Given the description of an element on the screen output the (x, y) to click on. 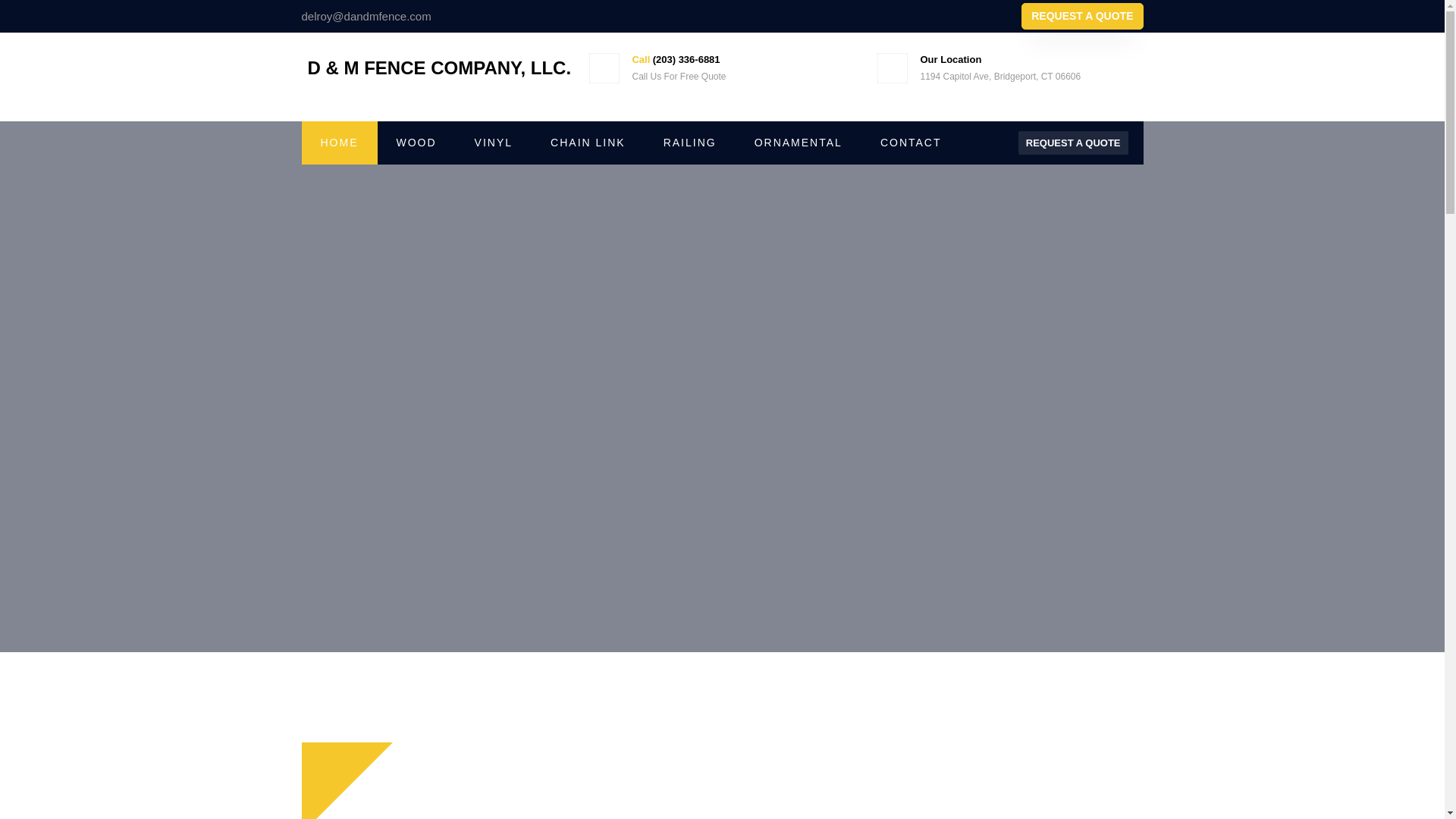
CONTACT (910, 142)
CHAIN LINK (588, 142)
REQUEST A QUOTE (1072, 142)
ORNAMENTAL (798, 142)
HOME (339, 142)
WOOD (416, 142)
RAILING (690, 142)
VINYL (493, 142)
REQUEST A QUOTE (1082, 16)
